Given the description of an element on the screen output the (x, y) to click on. 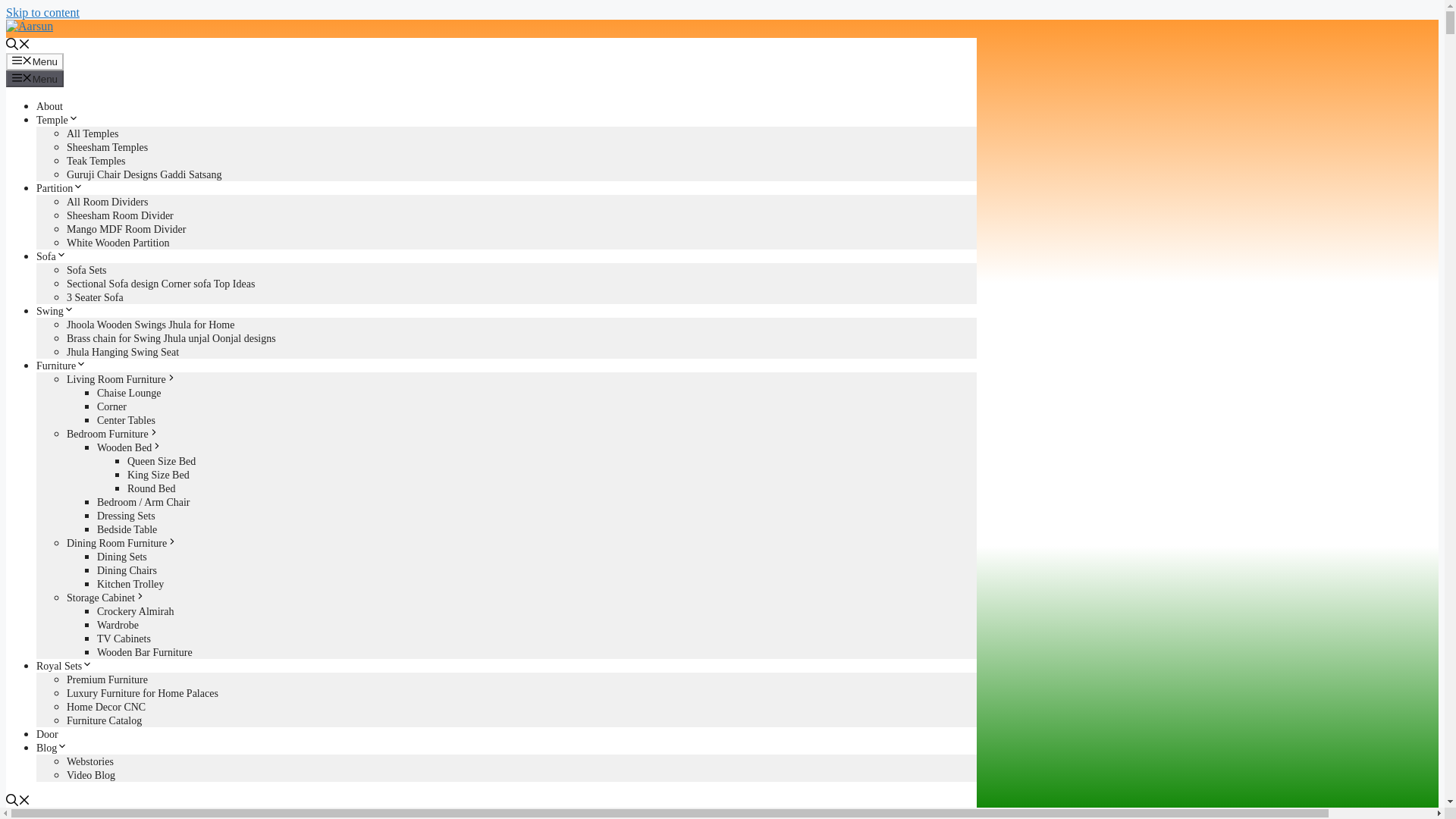
Skip to content (42, 11)
Corner (111, 406)
Menu (34, 61)
3 Seater Sofa (94, 297)
Wooden Bed (129, 447)
Guruji Chair Designs Gaddi Satsang (144, 174)
Sofa (51, 256)
White Wooden Partition (117, 242)
Round Bed (151, 488)
Bedroom Furniture (112, 433)
